Given the description of an element on the screen output the (x, y) to click on. 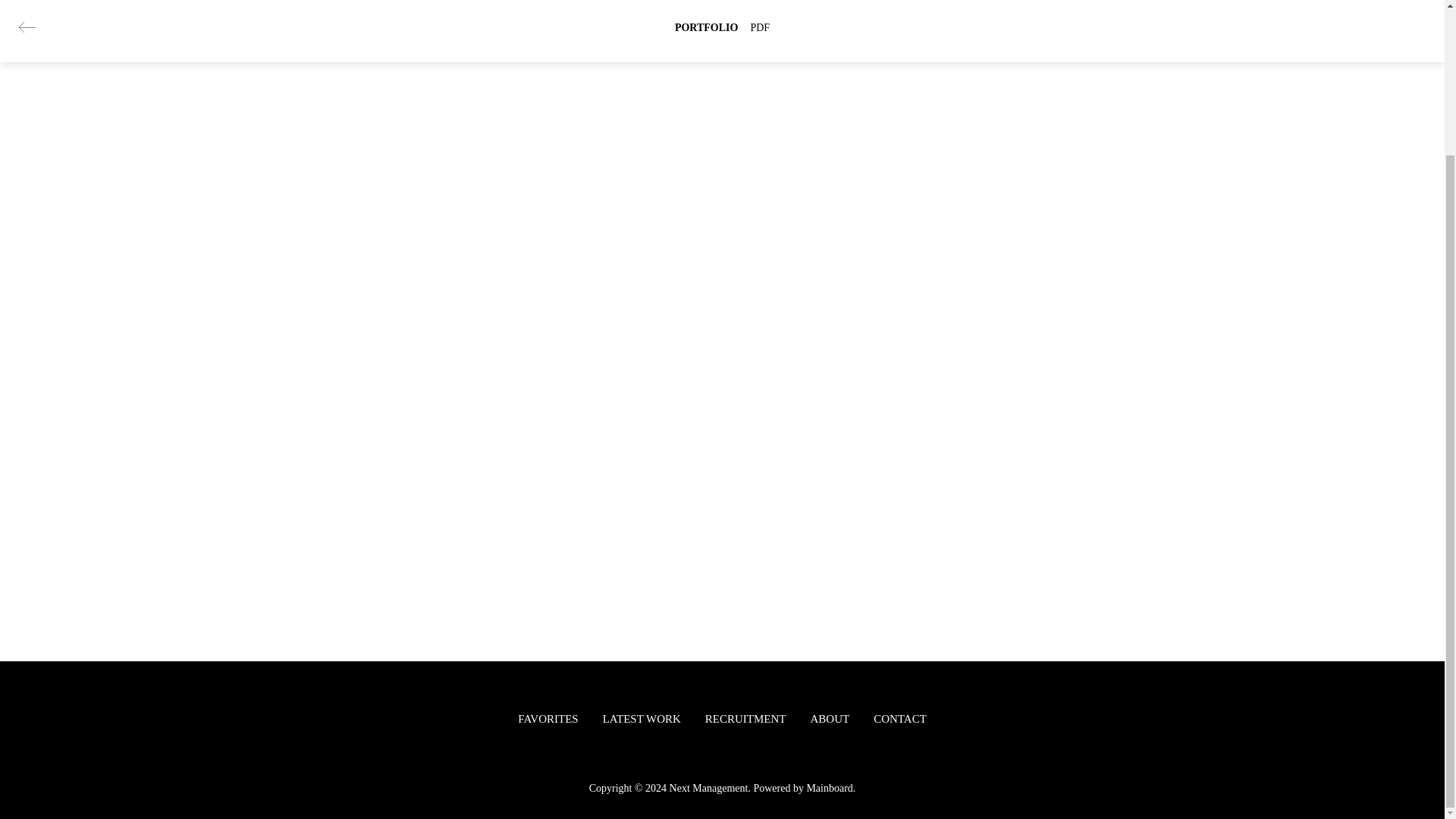
CONTACT (899, 718)
FAVORITES (548, 718)
RECRUITMENT (745, 718)
ABOUT (830, 718)
Mainboard (828, 787)
LATEST WORK (641, 718)
